Given the description of an element on the screen output the (x, y) to click on. 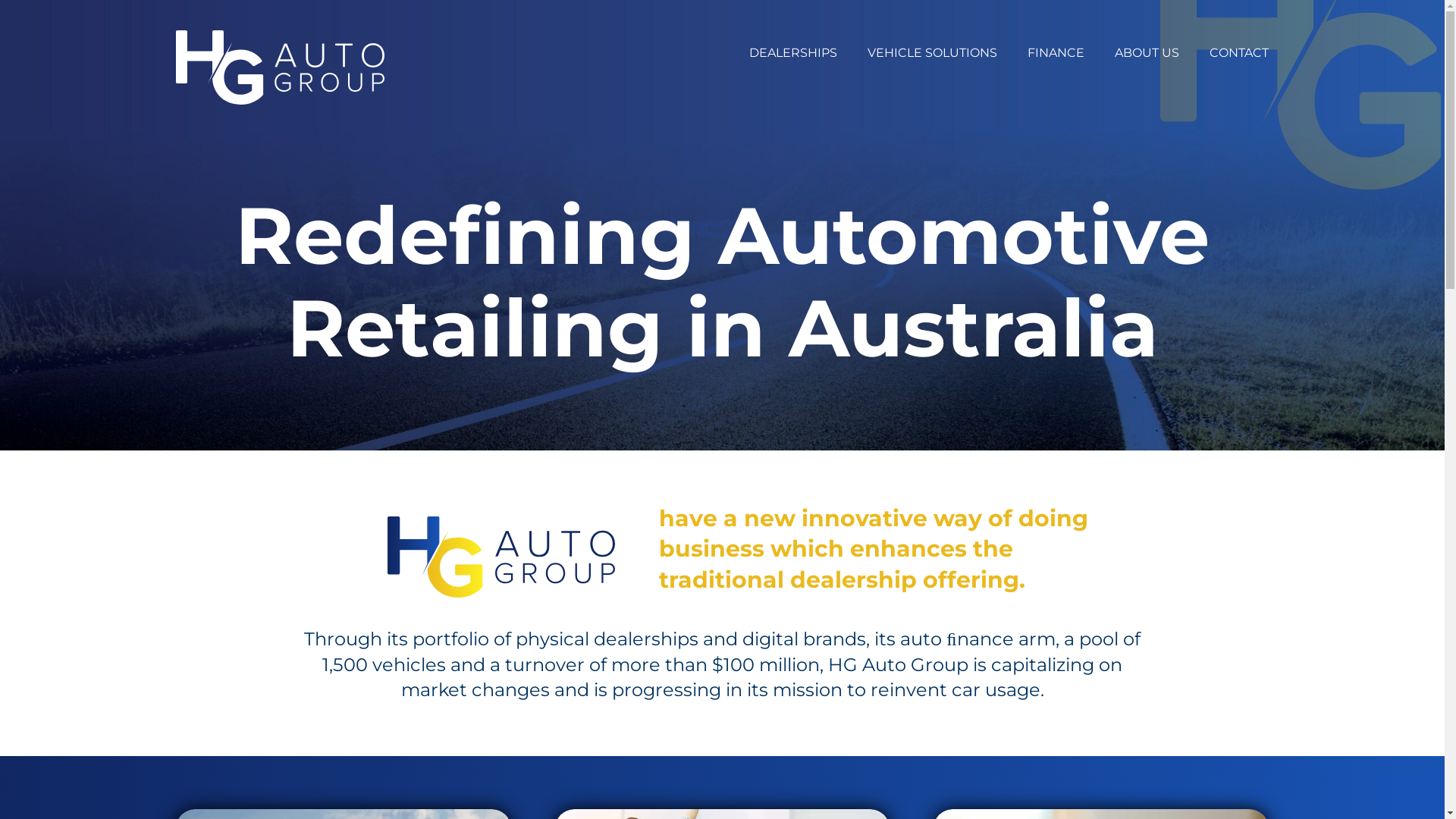
HG Auto Group Element type: hover (501, 556)
CONTACT Element type: text (1238, 54)
ABOUT US Element type: text (1146, 54)
DEALERSHIPS Element type: text (793, 54)
FINANCE Element type: text (1055, 54)
VEHICLE SOLUTIONS Element type: text (932, 54)
